Given the description of an element on the screen output the (x, y) to click on. 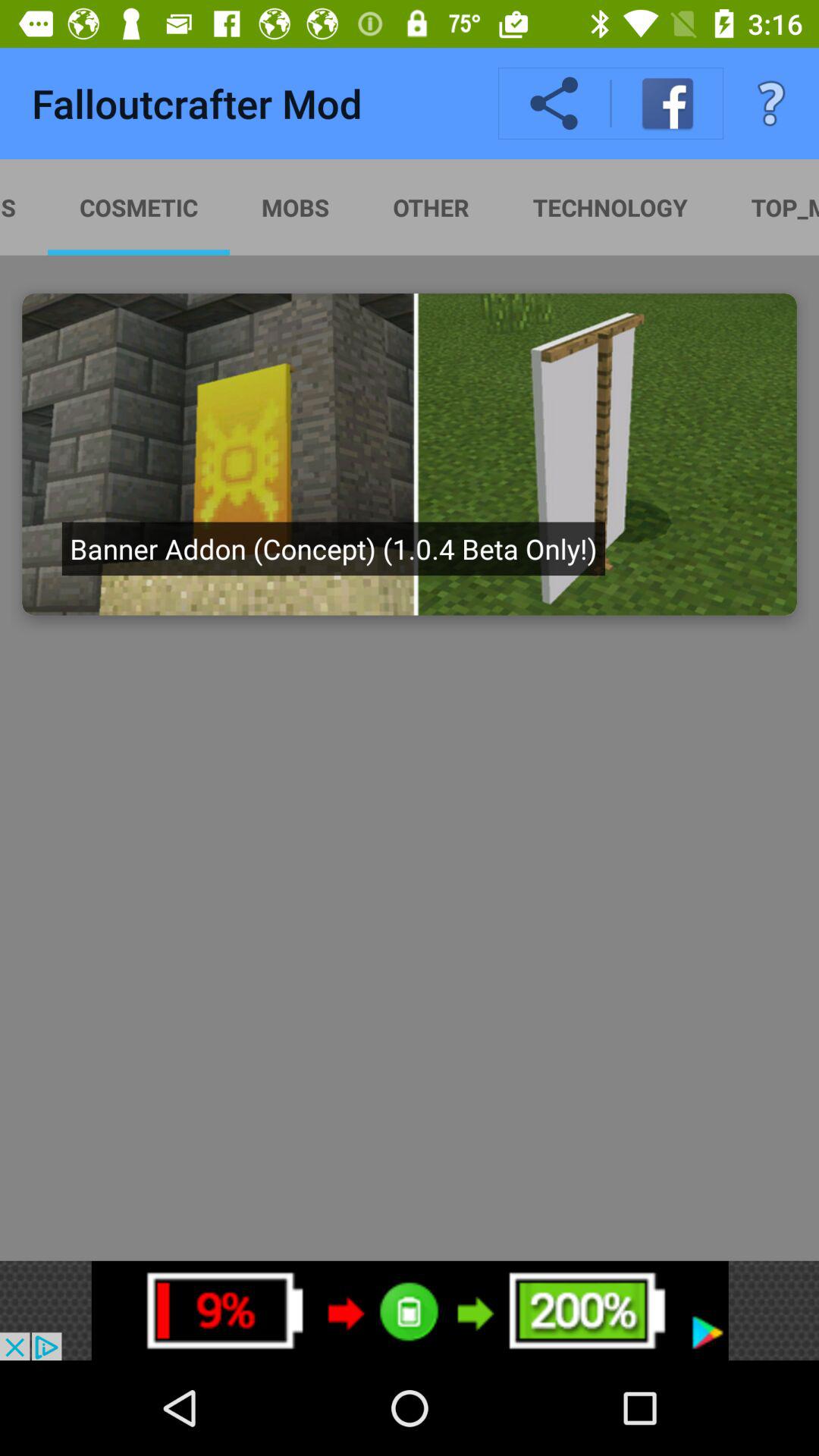
select facebook icon (668, 103)
click on the question mark icon (771, 103)
click on the option next to the cosmetic (295, 207)
click on the option to the left of the option mobs (409, 207)
share (554, 103)
click the image (409, 454)
select cosmetic (138, 207)
